Given the description of an element on the screen output the (x, y) to click on. 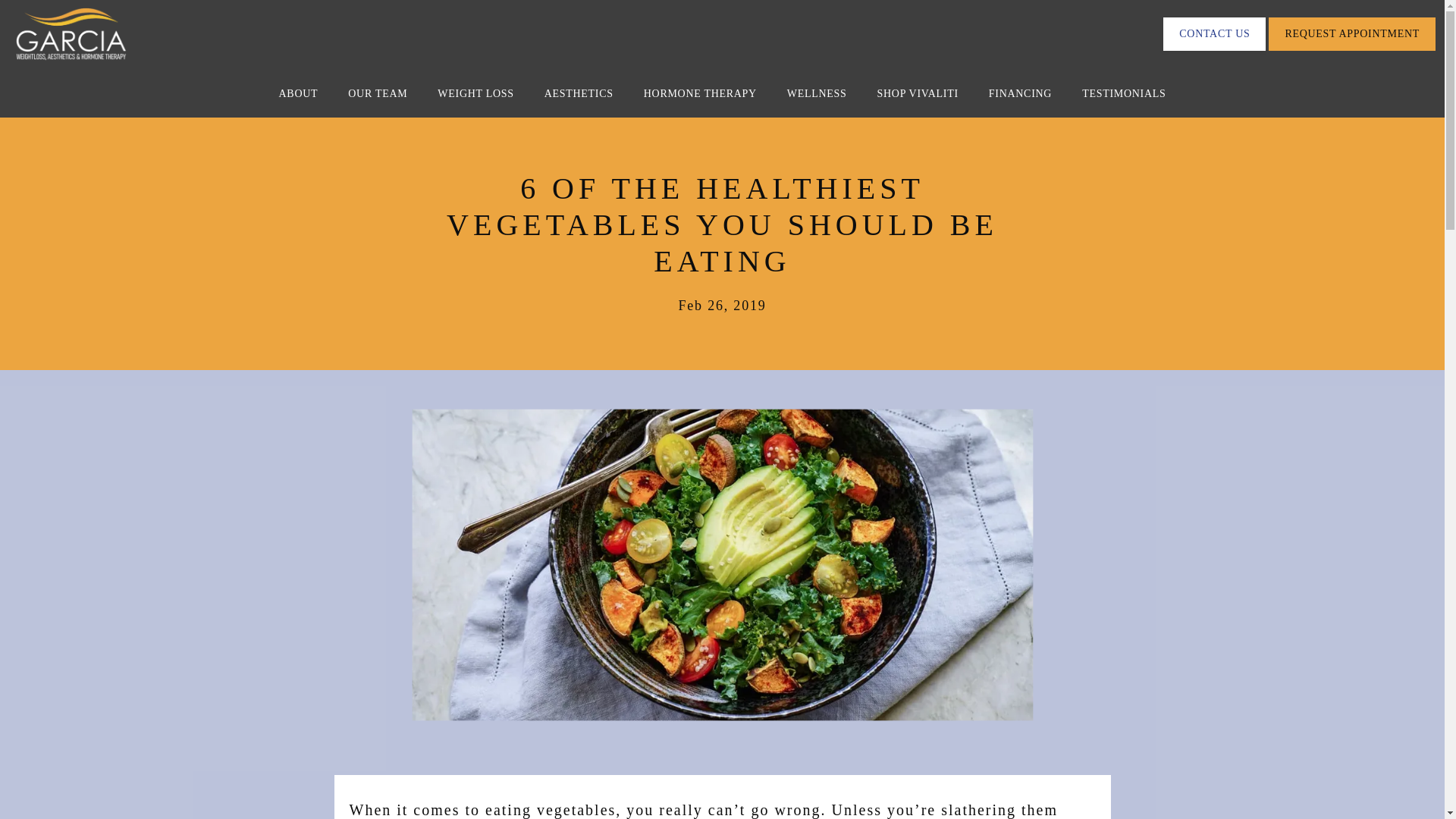
FINANCING (1019, 93)
SHOP VIVALITI (917, 93)
OUR TEAM (377, 93)
ABOUT (298, 93)
